Given the description of an element on the screen output the (x, y) to click on. 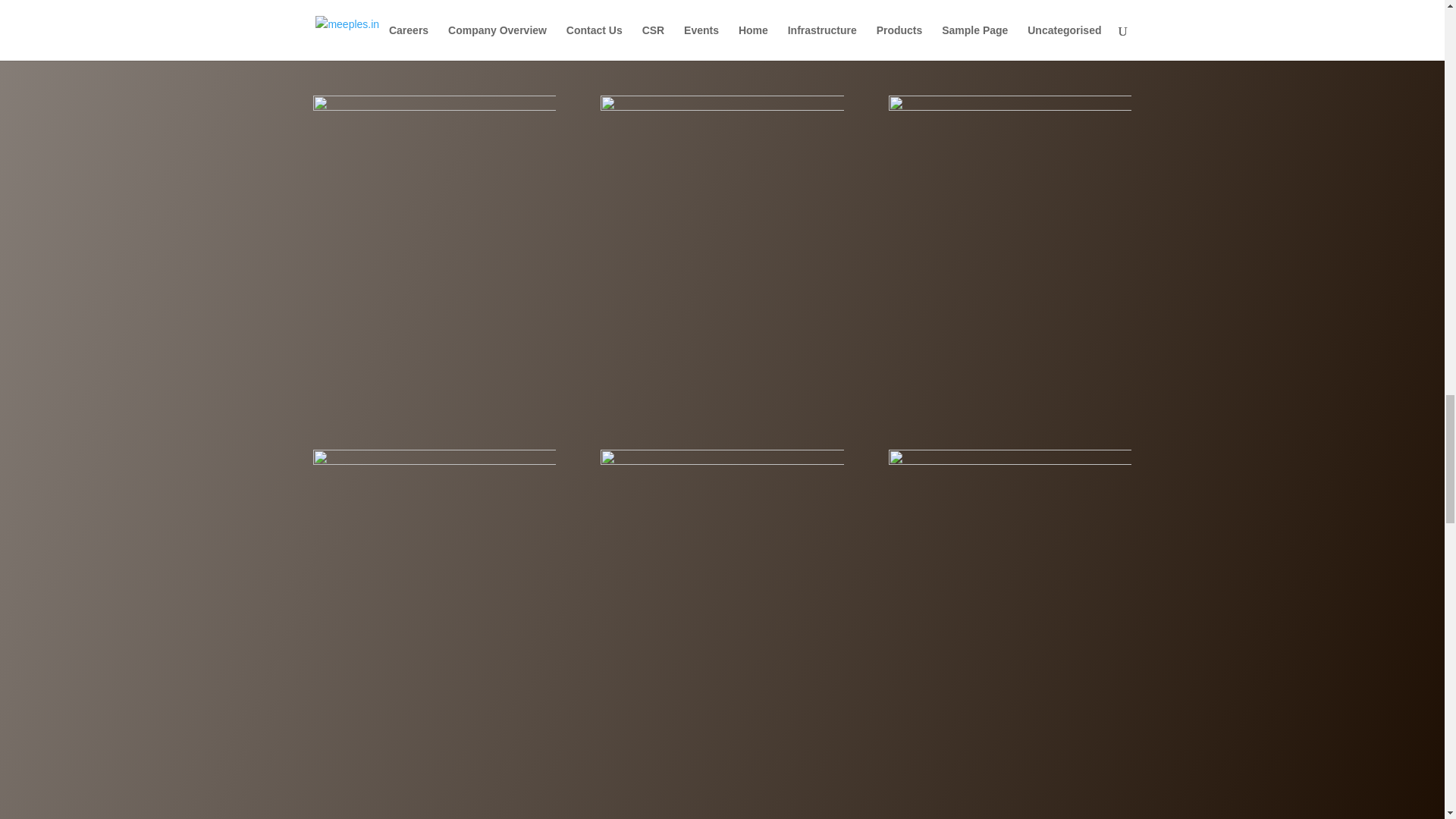
product6 (1009, 216)
product7 (433, 570)
product5 (721, 217)
Garment (1009, 570)
product4 (433, 217)
product8 (721, 570)
